Given the description of an element on the screen output the (x, y) to click on. 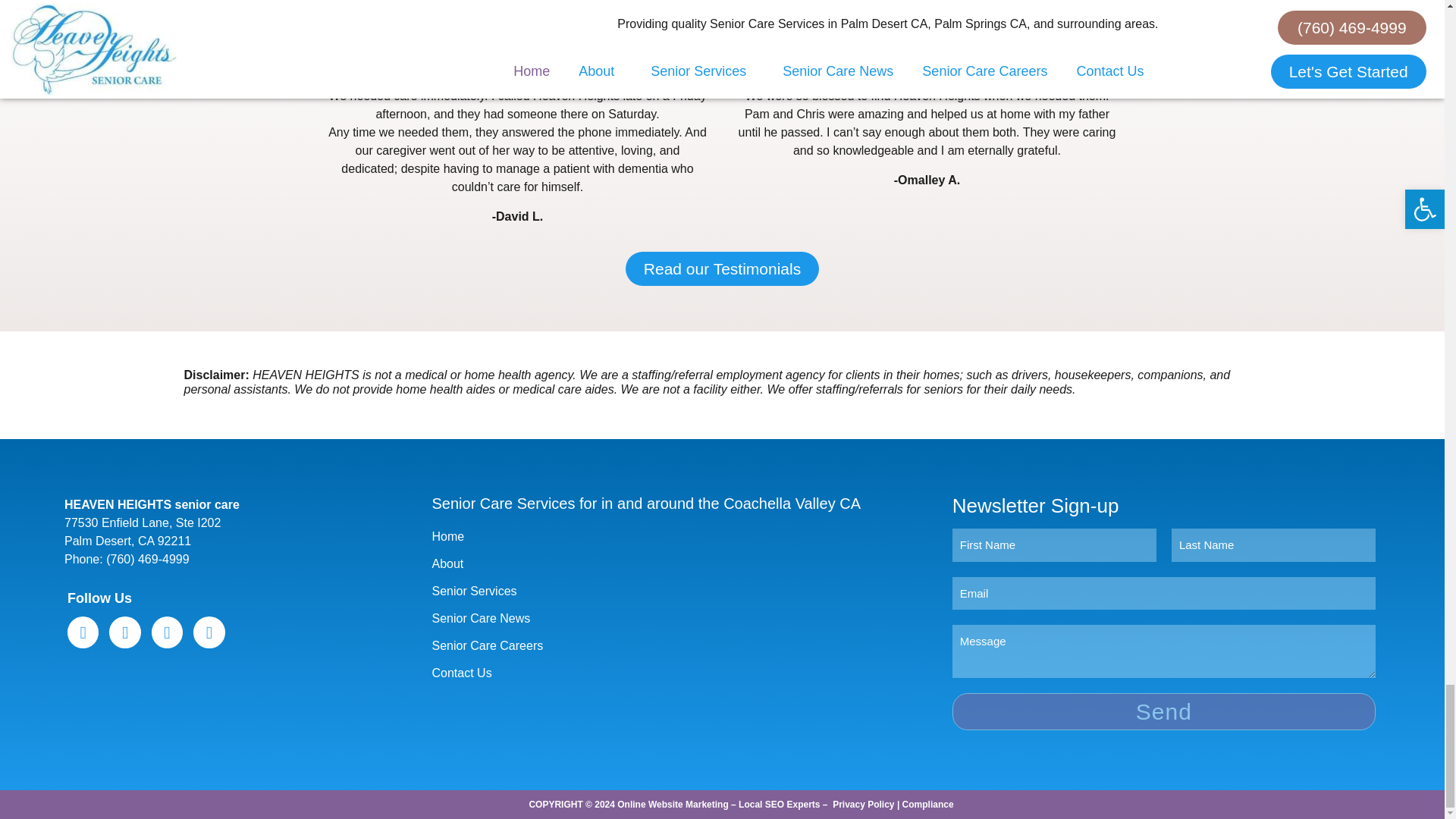
Privacy Policy (862, 804)
Online Website Marketing - Local SEO Experts (718, 804)
